Given the description of an element on the screen output the (x, y) to click on. 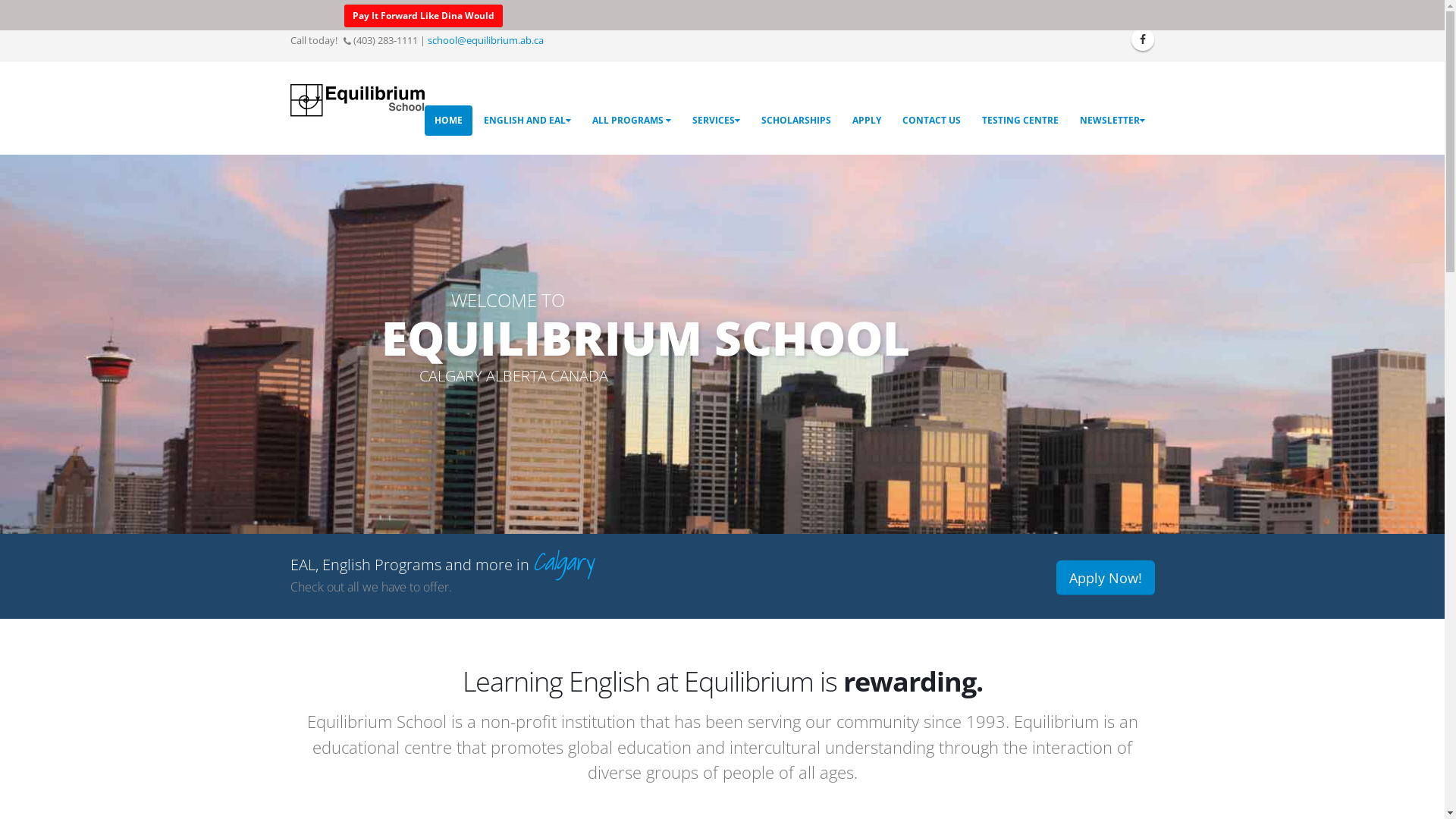
SCHOLARSHIPS Element type: text (795, 120)
Pay It Forward Like Dina Would Element type: text (423, 15)
CONTACT US Element type: text (930, 120)
HOME Element type: text (448, 120)
ALL PROGRAMS Element type: text (631, 120)
school@equilibrium.ab.ca Element type: text (485, 40)
ENGLISH AND EAL Element type: text (526, 120)
SERVICES Element type: text (715, 120)
APPLY Element type: text (865, 120)
Facebook Element type: hover (1142, 39)
NEWSLETTER Element type: text (1111, 120)
Apply Now! Element type: text (1104, 577)
TESTING CENTRE Element type: text (1020, 120)
